Given the description of an element on the screen output the (x, y) to click on. 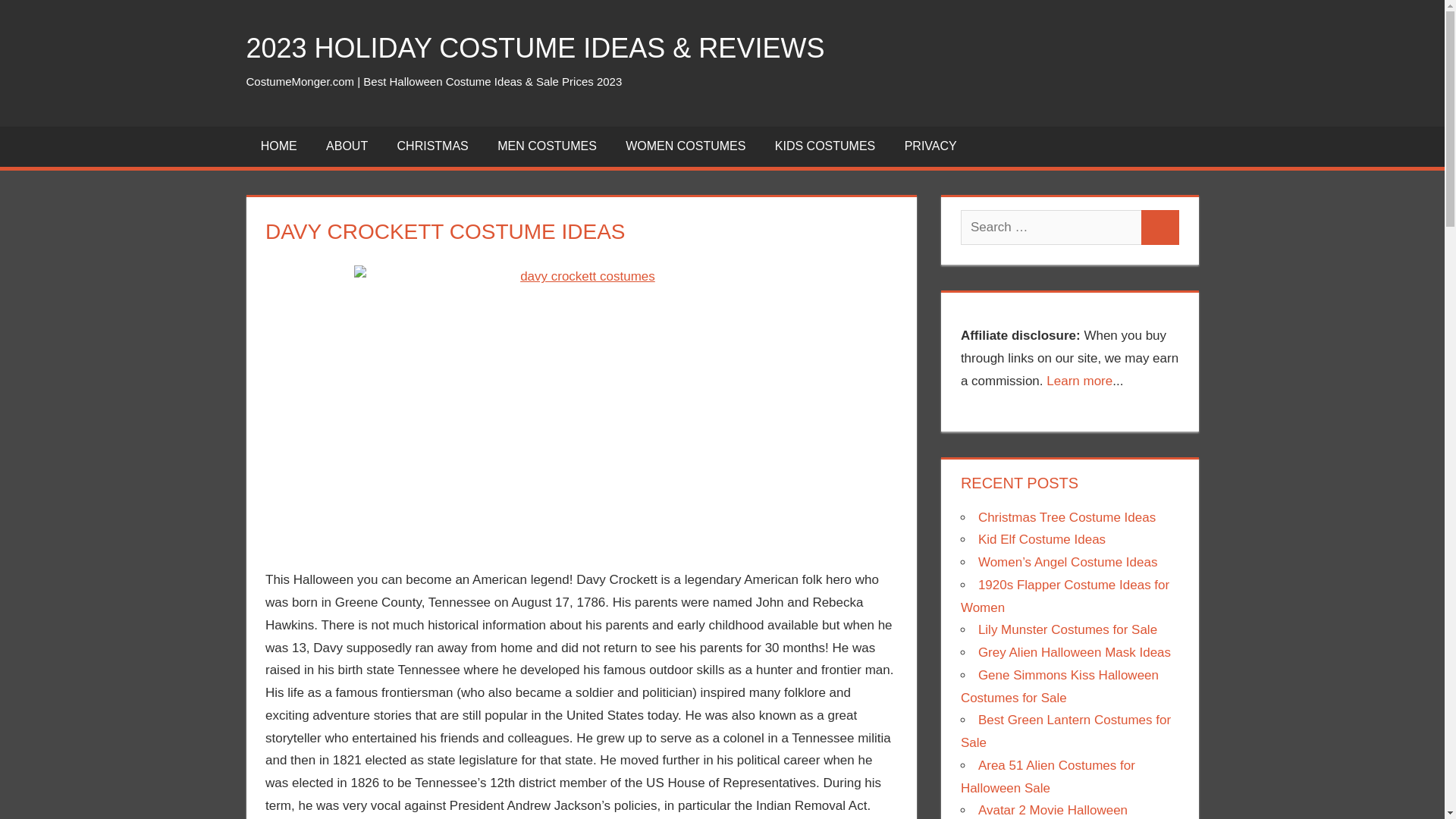
HOME (278, 146)
Search for: (1050, 226)
CHRISTMAS (432, 146)
ABOUT (346, 146)
PRIVACY (930, 146)
KIDS COSTUMES (824, 146)
Search (1160, 226)
WOMEN COSTUMES (685, 146)
MEN COSTUMES (547, 146)
